Given the description of an element on the screen output the (x, y) to click on. 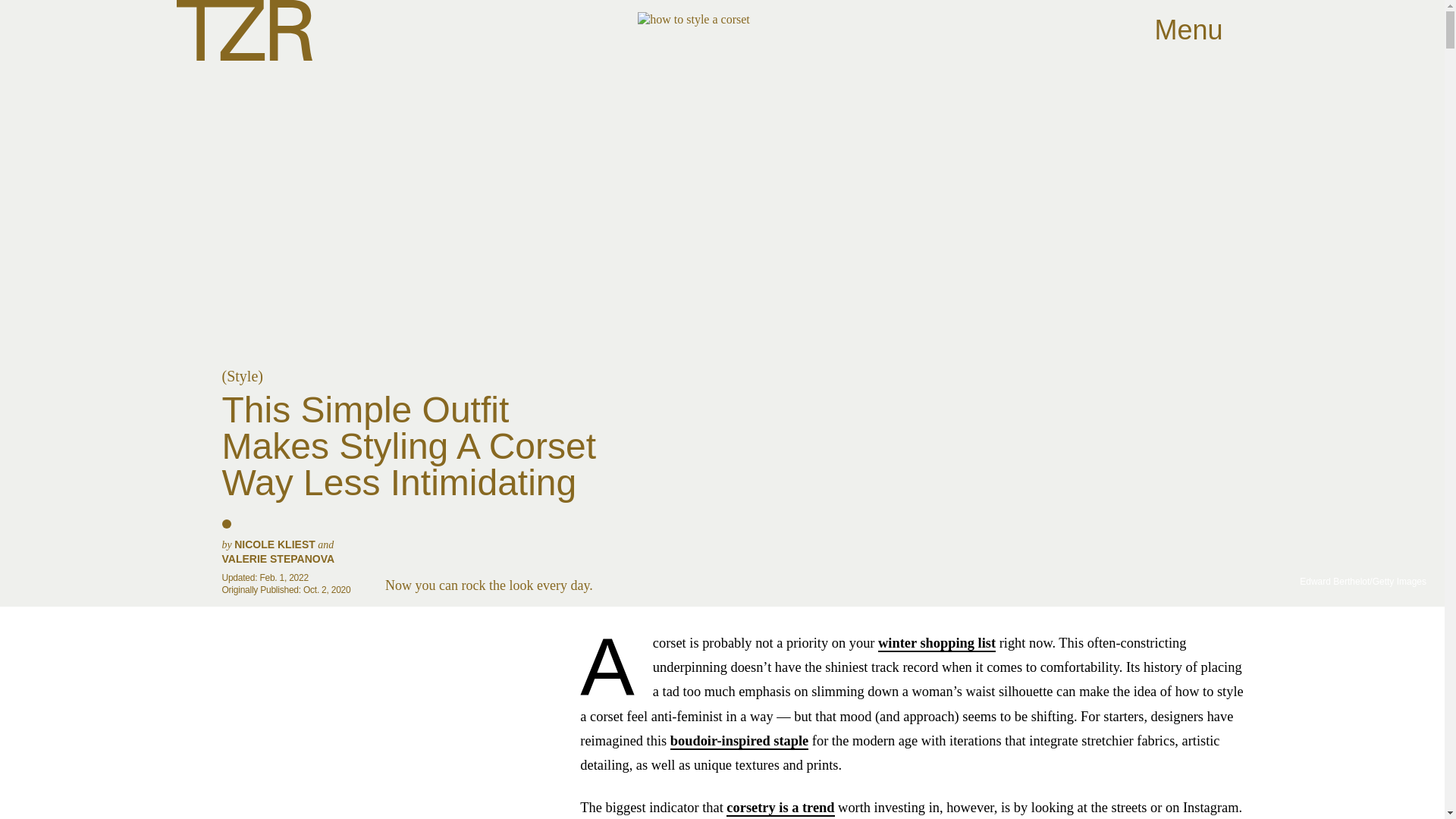
VALERIE STEPANOVA (277, 558)
boudoir-inspired staple (738, 741)
The Zoe Report (243, 30)
winter shopping list (936, 643)
NICOLE KLIEST (274, 544)
corsetry is a trend (780, 808)
